Given the description of an element on the screen output the (x, y) to click on. 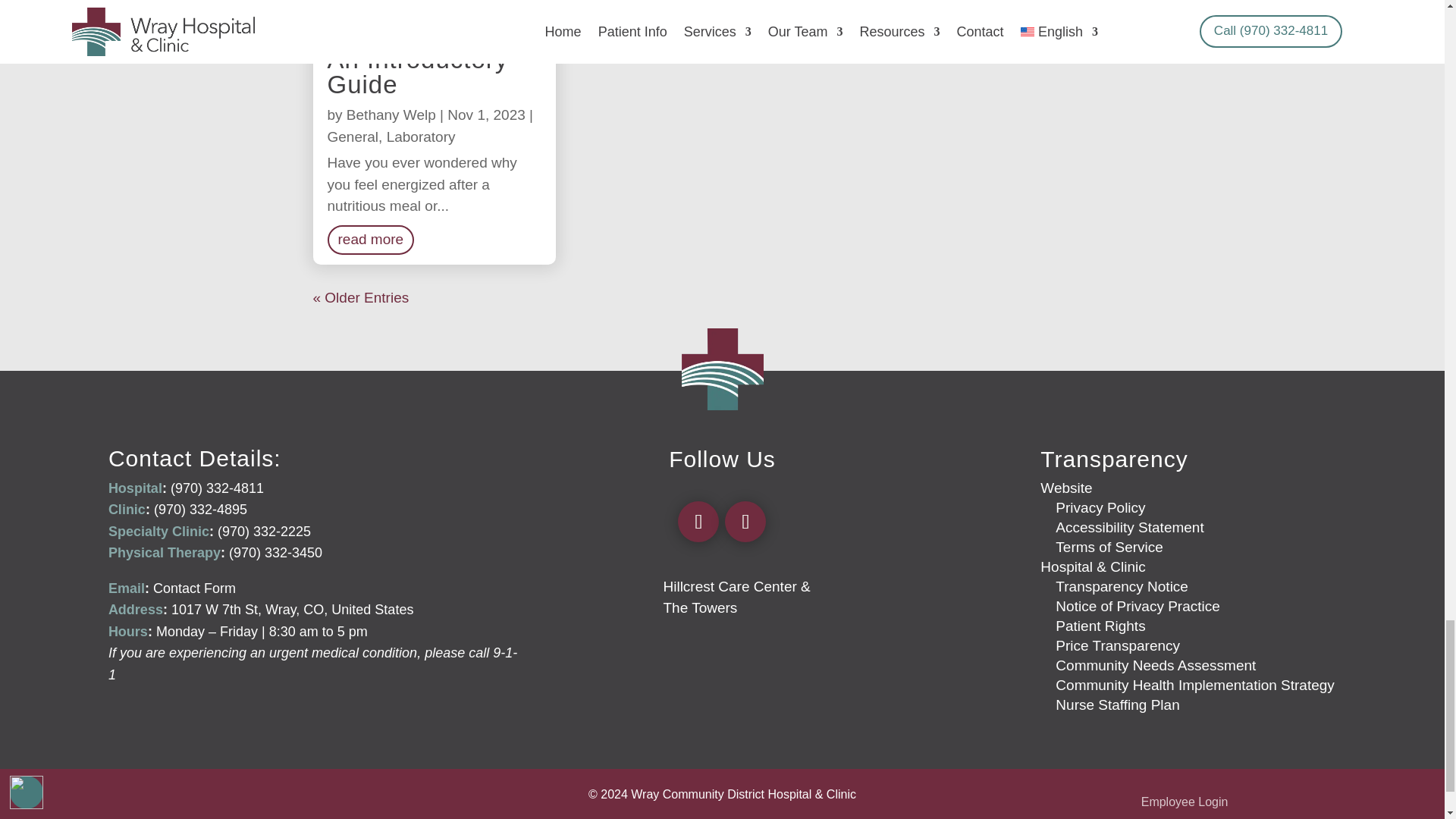
Posts by Bethany Welp (390, 114)
